Given the description of an element on the screen output the (x, y) to click on. 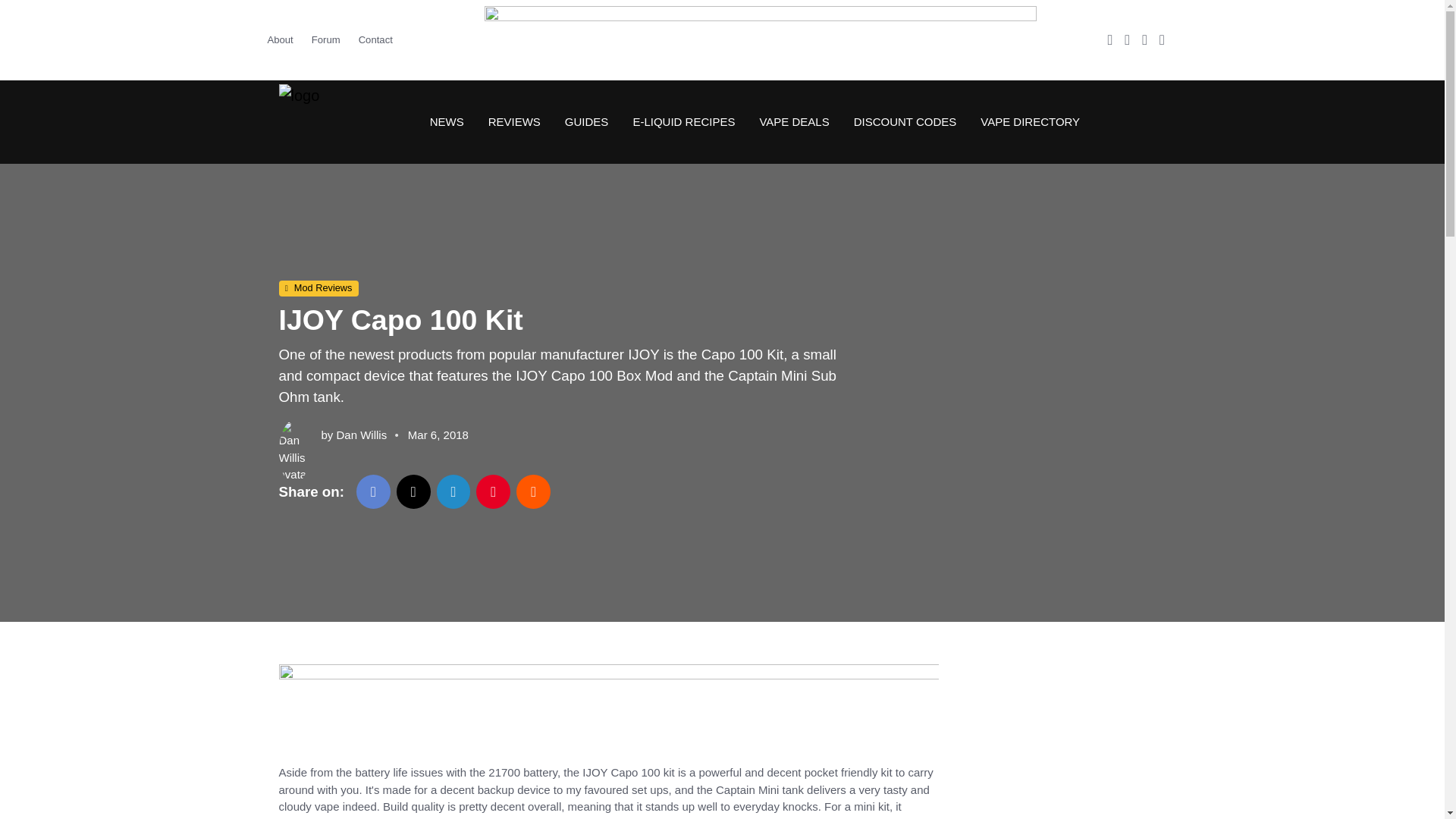
Forum (325, 39)
Contact (375, 39)
VAPE DEALS (793, 121)
Mod Reviews (318, 288)
GUIDES (587, 121)
About (283, 39)
REVIEWS (514, 121)
E-LIQUID RECIPES (683, 121)
VAPE DIRECTORY (1024, 121)
